Given the description of an element on the screen output the (x, y) to click on. 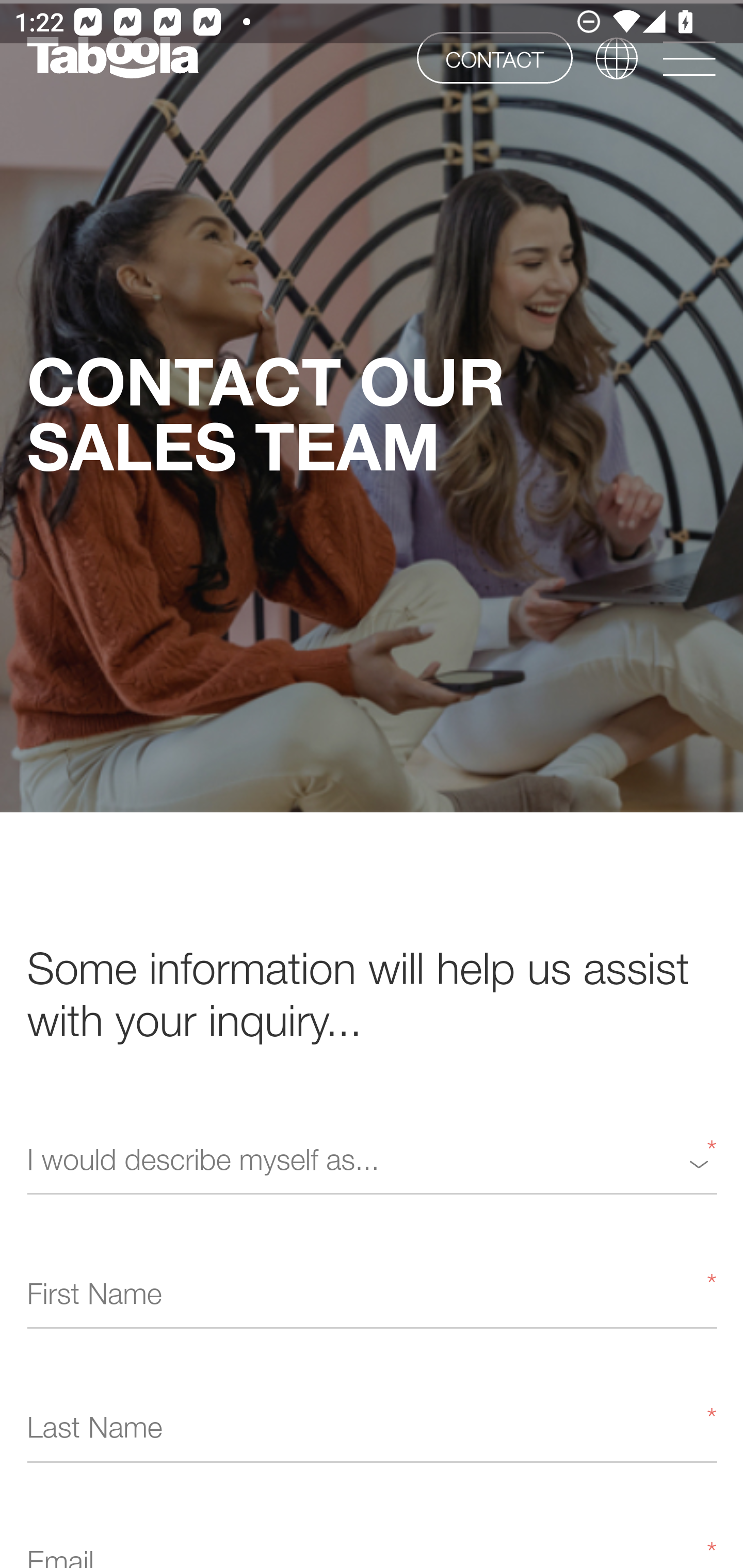
CONTACT (494, 56)
www.taboola (112, 57)
* I would describe myself as... (371, 1163)
